Given the description of an element on the screen output the (x, y) to click on. 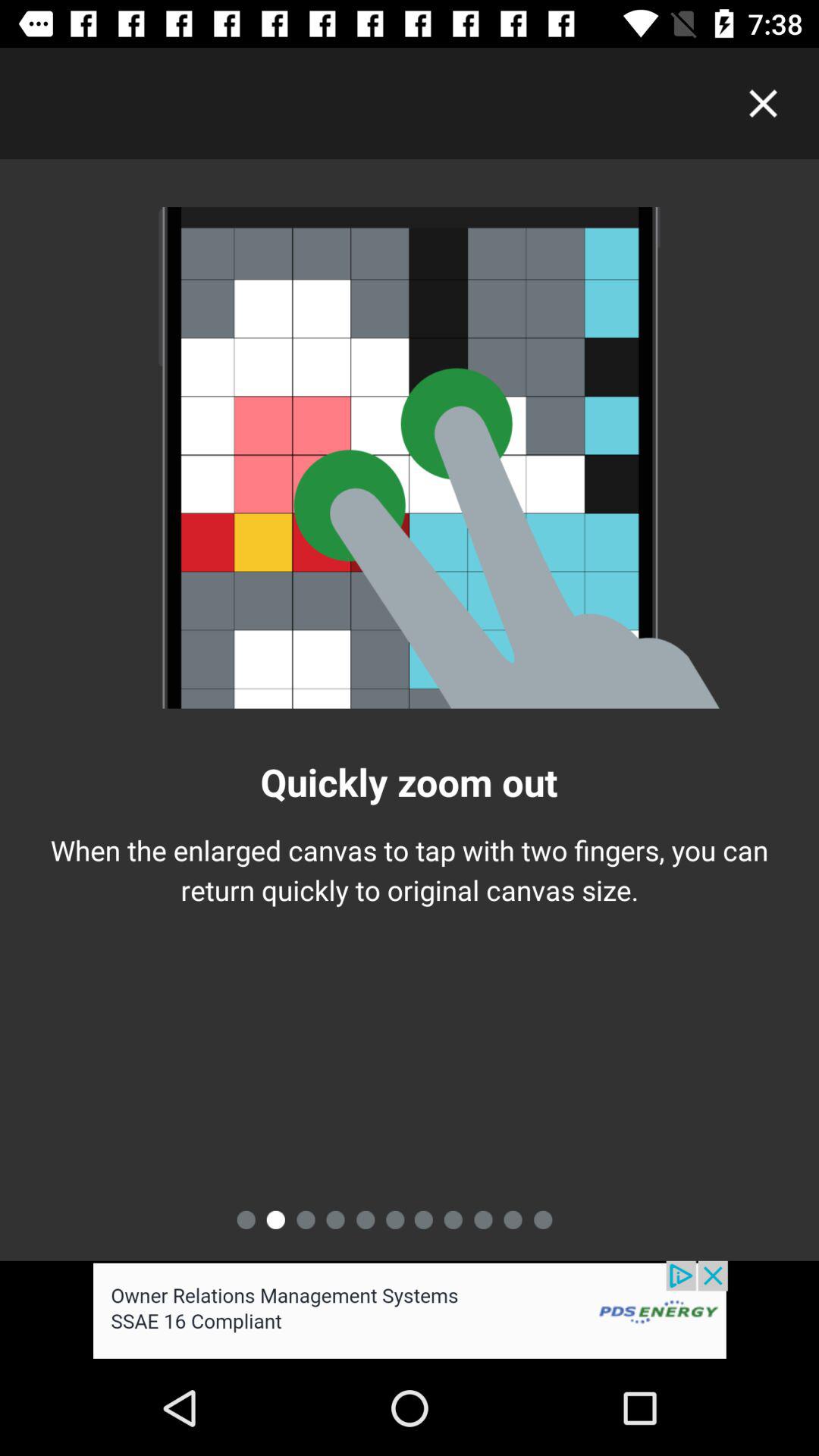
know about the advertisement (409, 1310)
